Given the description of an element on the screen output the (x, y) to click on. 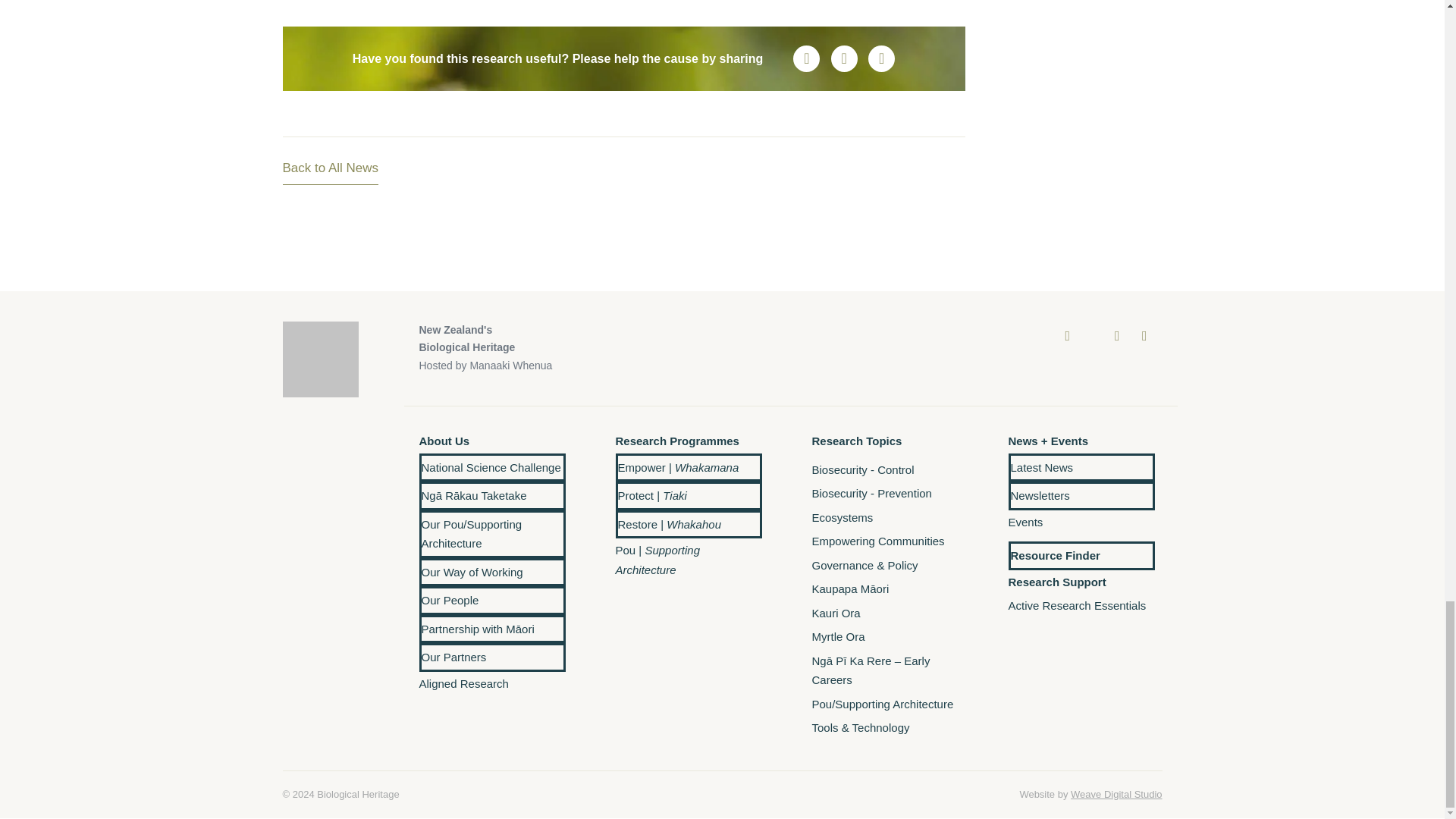
Bioheritage Vertical Logo (320, 359)
